Given the description of an element on the screen output the (x, y) to click on. 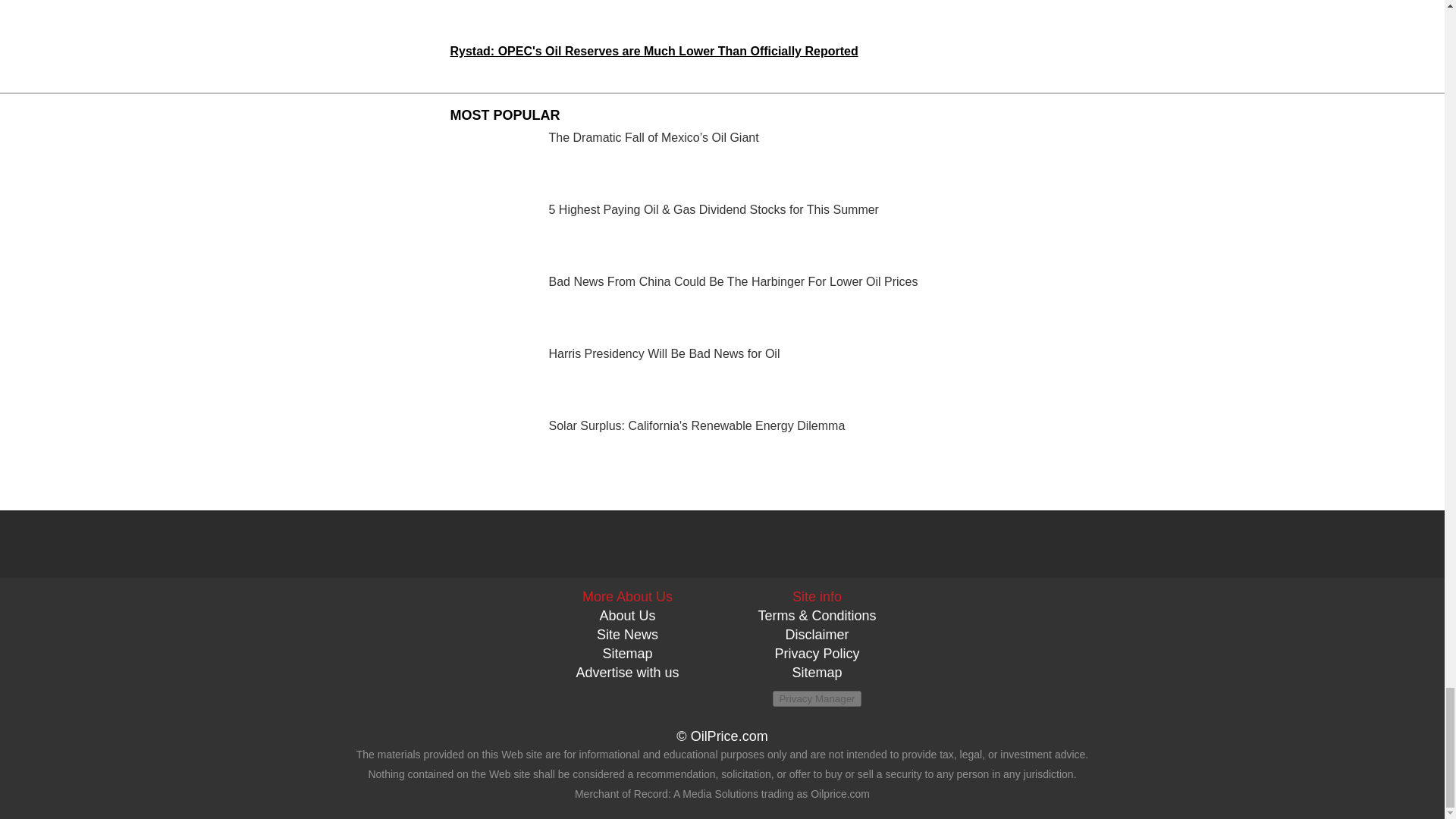
Sitemap (627, 653)
Disclaimer (816, 634)
Privacy Policy (816, 653)
Site info (816, 596)
Advertise with us (626, 672)
Sitemap (816, 672)
Privacy Manager (816, 698)
More About Us (627, 596)
OilPrice.com (729, 735)
About Us (626, 615)
Harris Presidency Will Be Bad News for Oil (721, 379)
Solar Surplus: California's Renewable Energy Dilemma (721, 451)
Site News (627, 634)
